Given the description of an element on the screen output the (x, y) to click on. 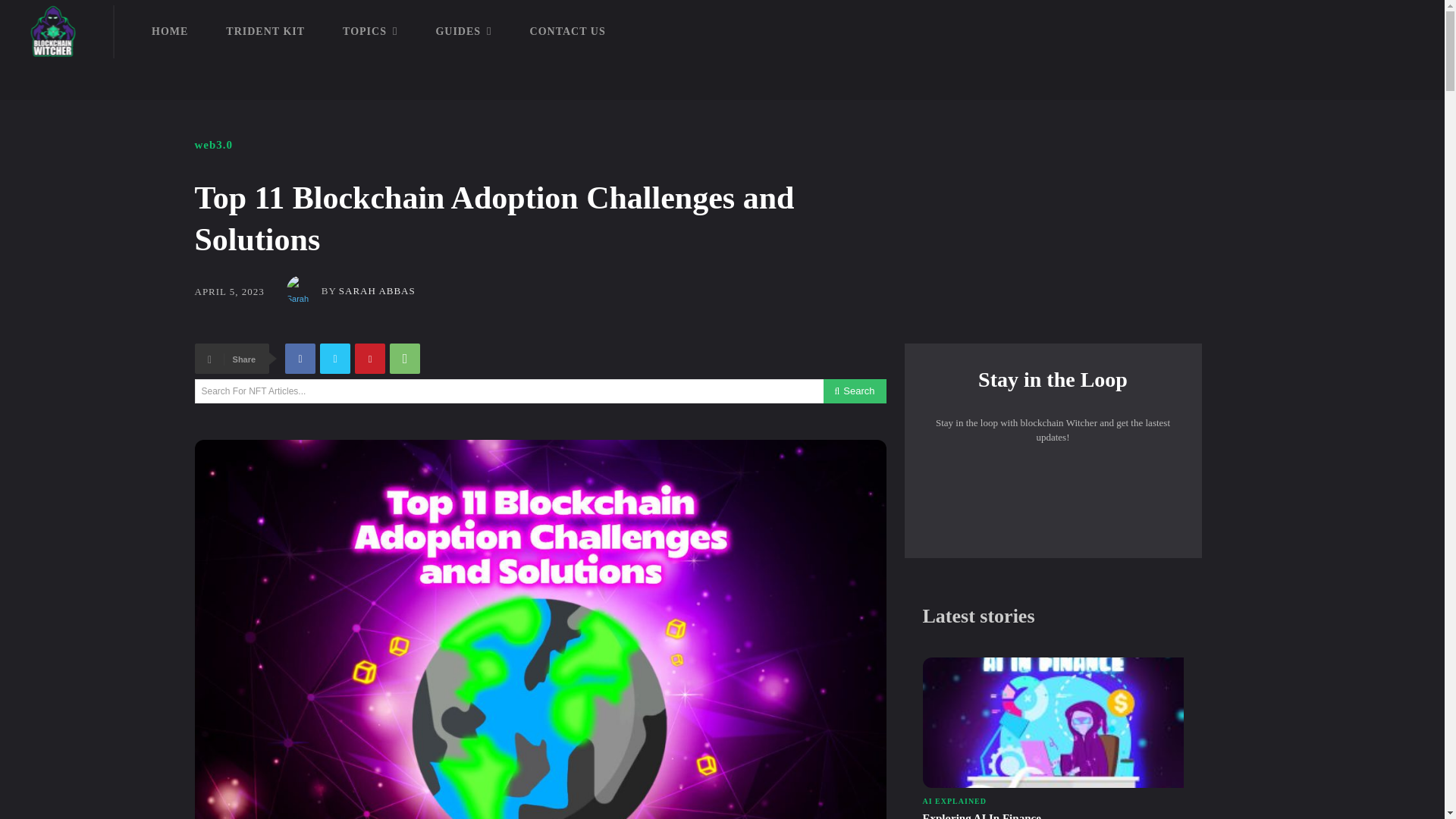
Facebook (300, 358)
Sarah Abbas (303, 290)
Pinterest (370, 358)
WhatsApp (405, 358)
Twitter (335, 358)
